Given the description of an element on the screen output the (x, y) to click on. 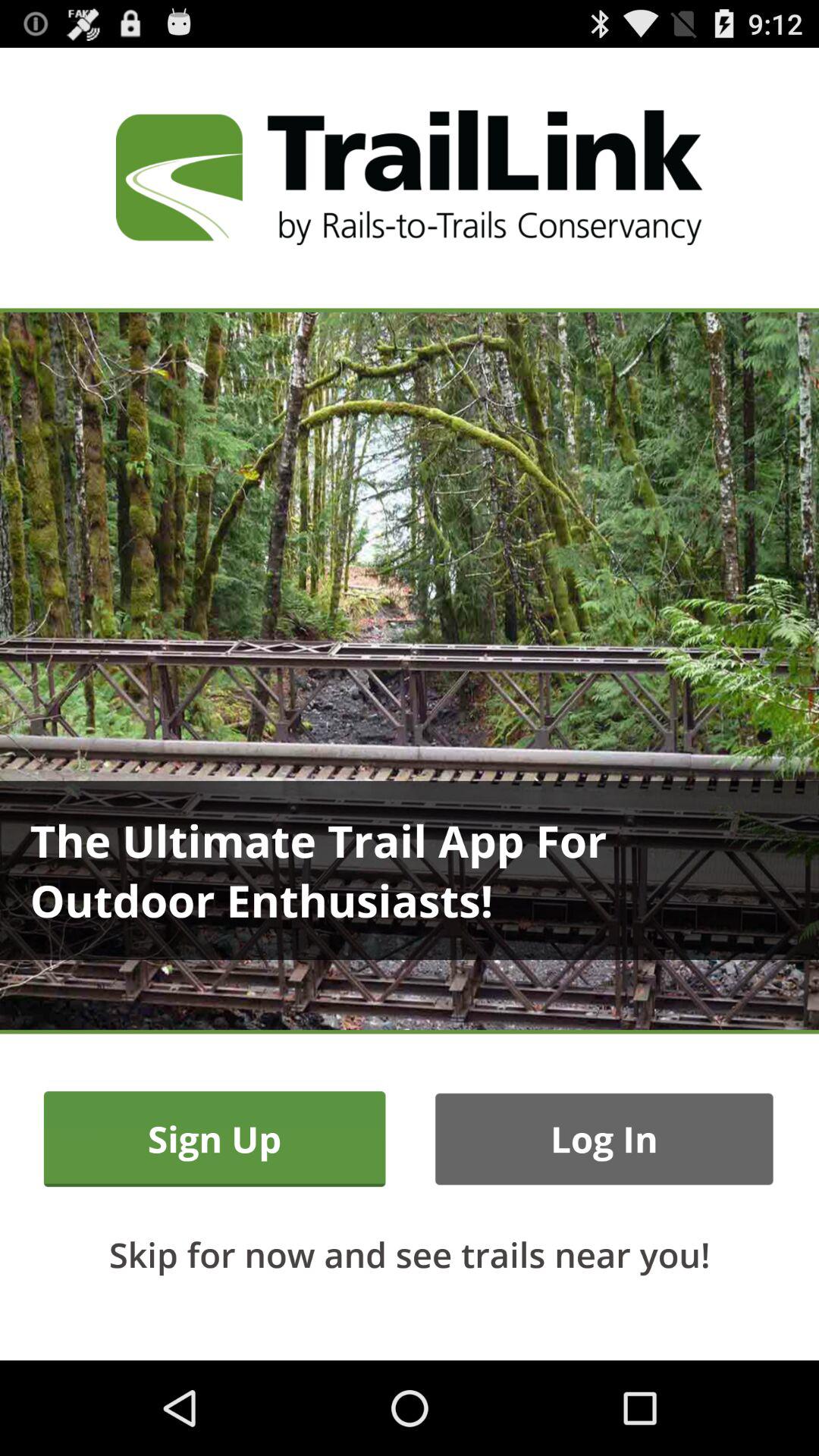
open the icon below the sign up icon (409, 1254)
